Given the description of an element on the screen output the (x, y) to click on. 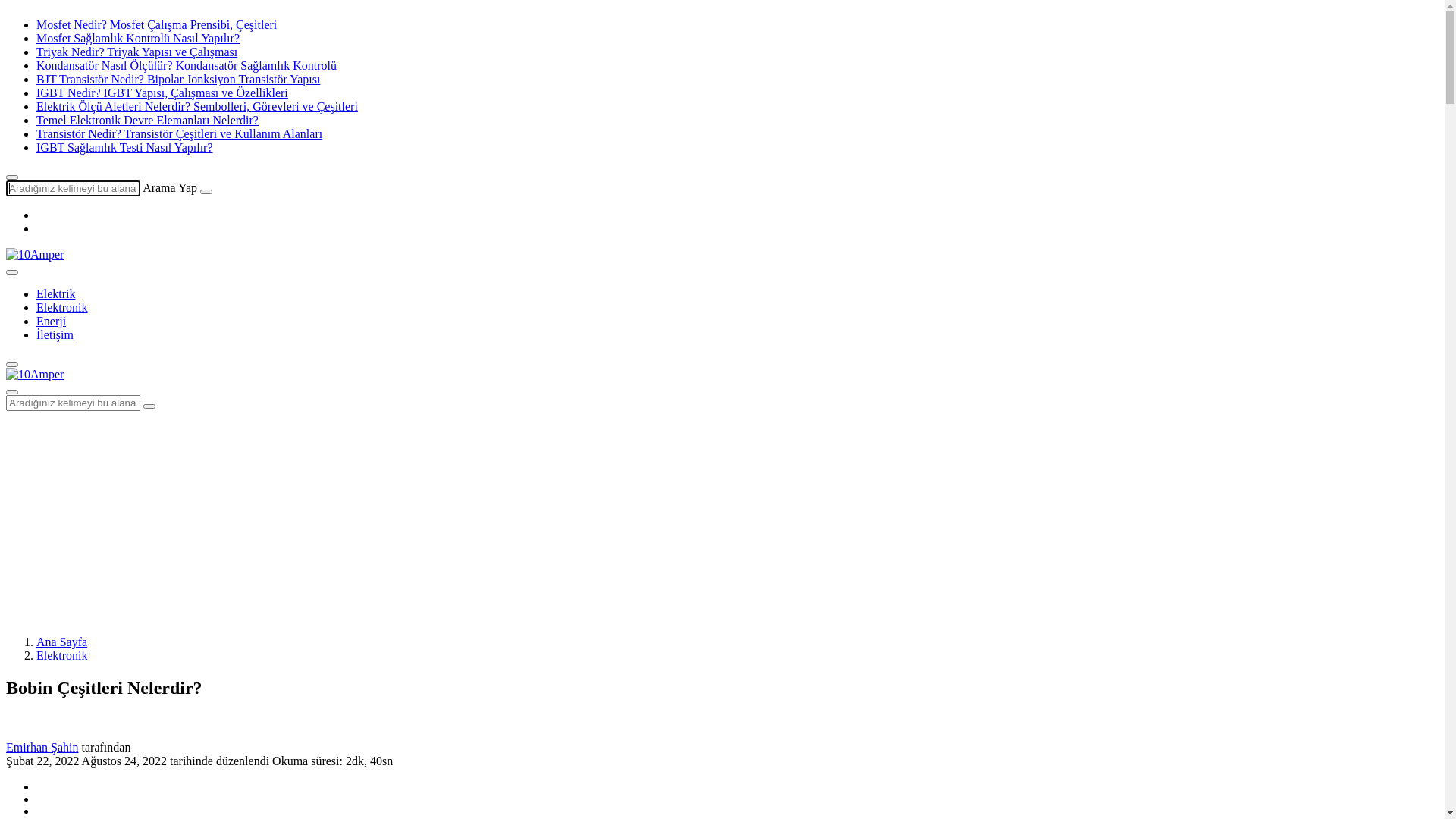
10Amper Element type: hover (34, 254)
10Amper Element type: hover (34, 374)
Elektrik Element type: text (55, 293)
Elektronik Element type: text (61, 655)
10Amper Element type: hover (34, 253)
Advertisement Element type: hover (461, 517)
Ana Sayfa Element type: text (61, 641)
Enerji Element type: text (50, 320)
10Amper Element type: hover (34, 373)
Elektronik Element type: text (61, 307)
